Given the description of an element on the screen output the (x, y) to click on. 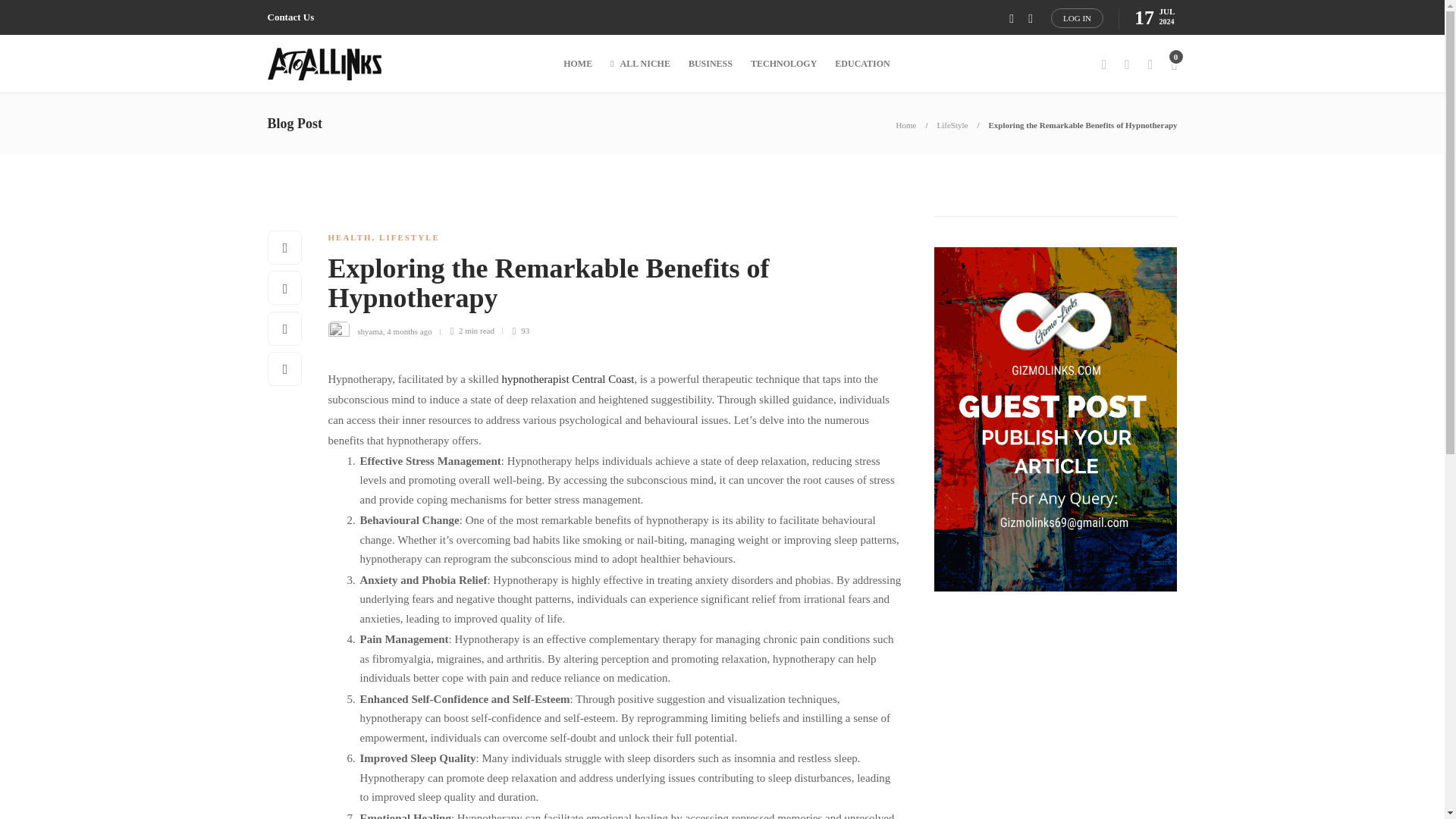
HEALTH (349, 236)
EDUCATION (861, 63)
Exploring the Remarkable Benefits of Hypnotherapy (1082, 124)
Home (906, 124)
TECHNOLOGY (783, 63)
Contact Us (290, 17)
shyama (369, 329)
LOG IN (1077, 17)
Home (906, 124)
Exploring the Remarkable Benefits of Hypnotherapy  (603, 287)
LIFESTYLE (408, 236)
ALL NICHE (639, 63)
LifeStyle (952, 124)
